Given the description of an element on the screen output the (x, y) to click on. 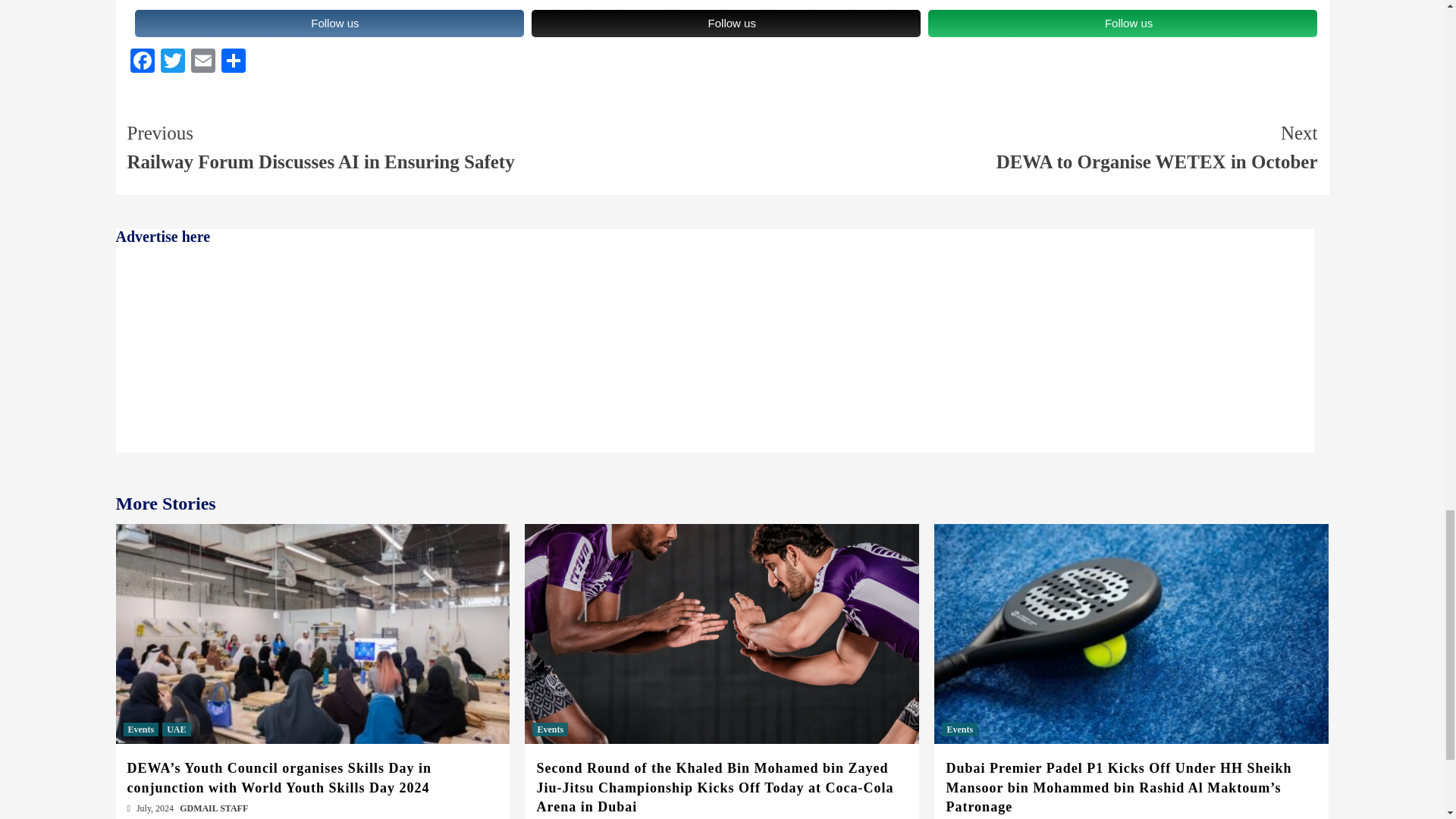
Email (202, 62)
Facebook (142, 62)
Follow us (1122, 22)
Twitter (1019, 147)
Follow us (172, 62)
Facebook (329, 22)
Share (142, 62)
Email (233, 62)
Follow us (202, 62)
Twitter (725, 22)
